Given the description of an element on the screen output the (x, y) to click on. 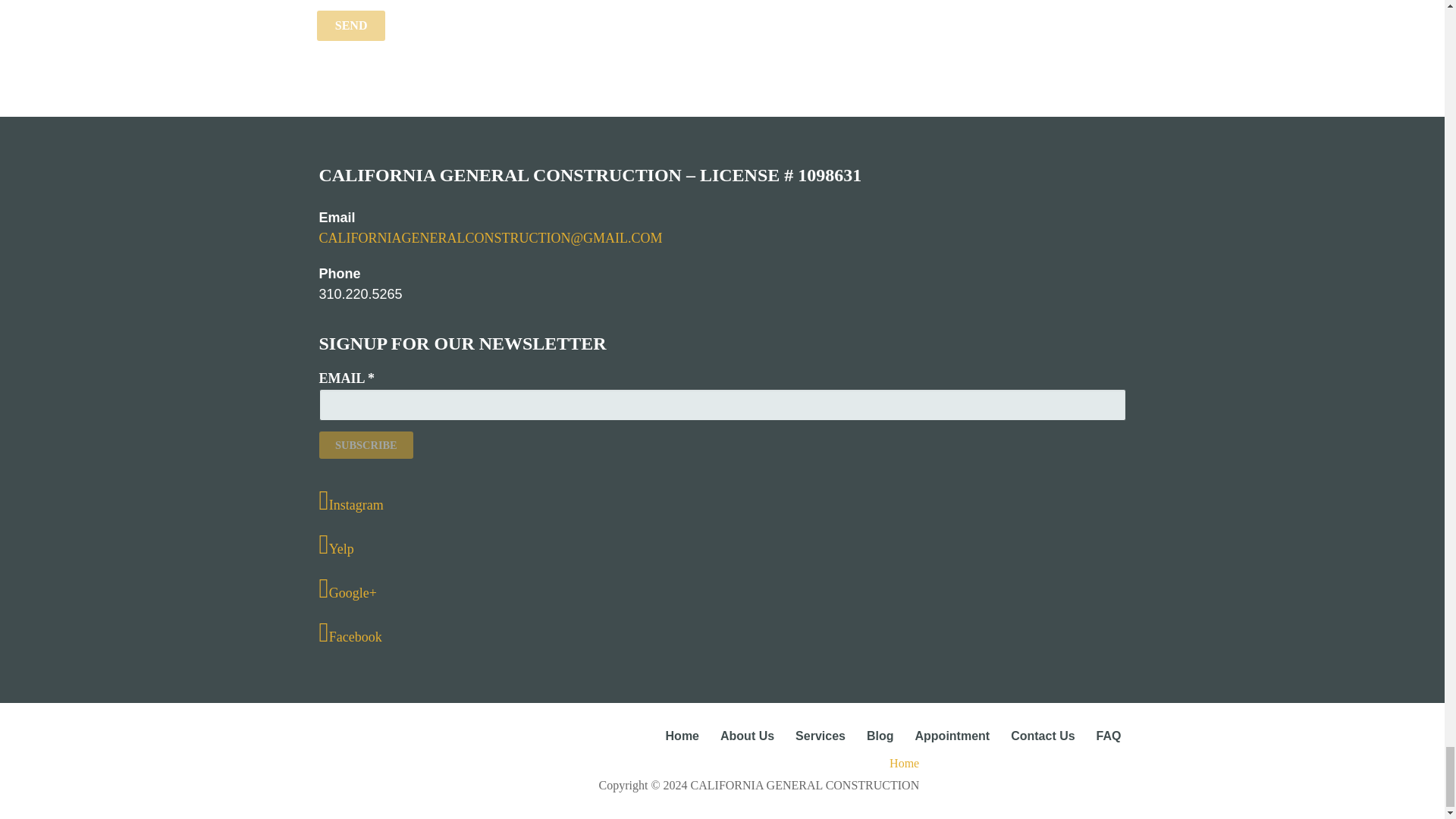
Appointment (952, 735)
Send (351, 25)
Instagram (721, 500)
Subscribe (365, 444)
Yelp (721, 544)
Subscribe (365, 444)
Blog (879, 735)
Home (617, 763)
Home (681, 735)
FAQ (1108, 735)
